Given the description of an element on the screen output the (x, y) to click on. 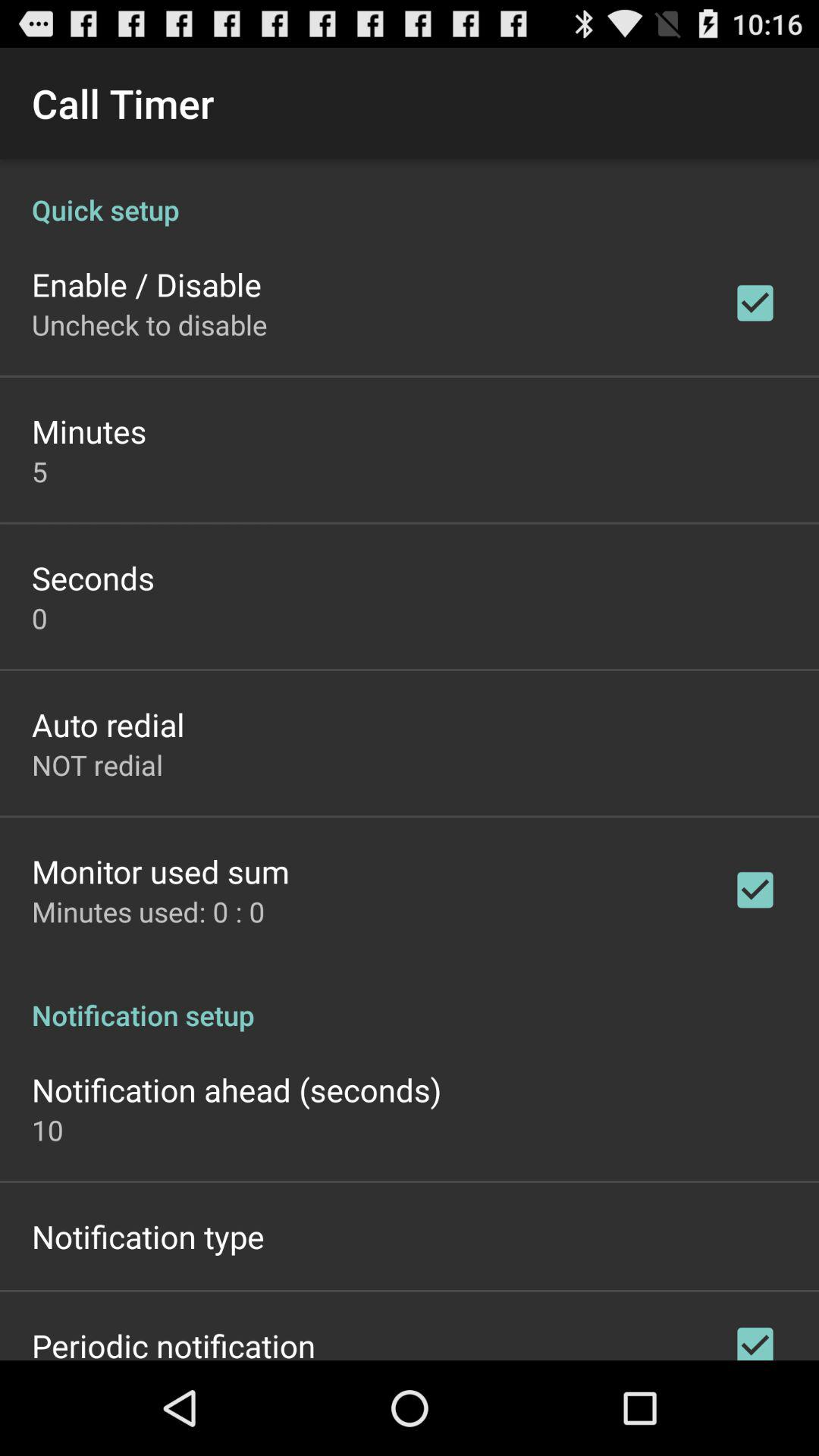
choose notification type app (147, 1236)
